Given the description of an element on the screen output the (x, y) to click on. 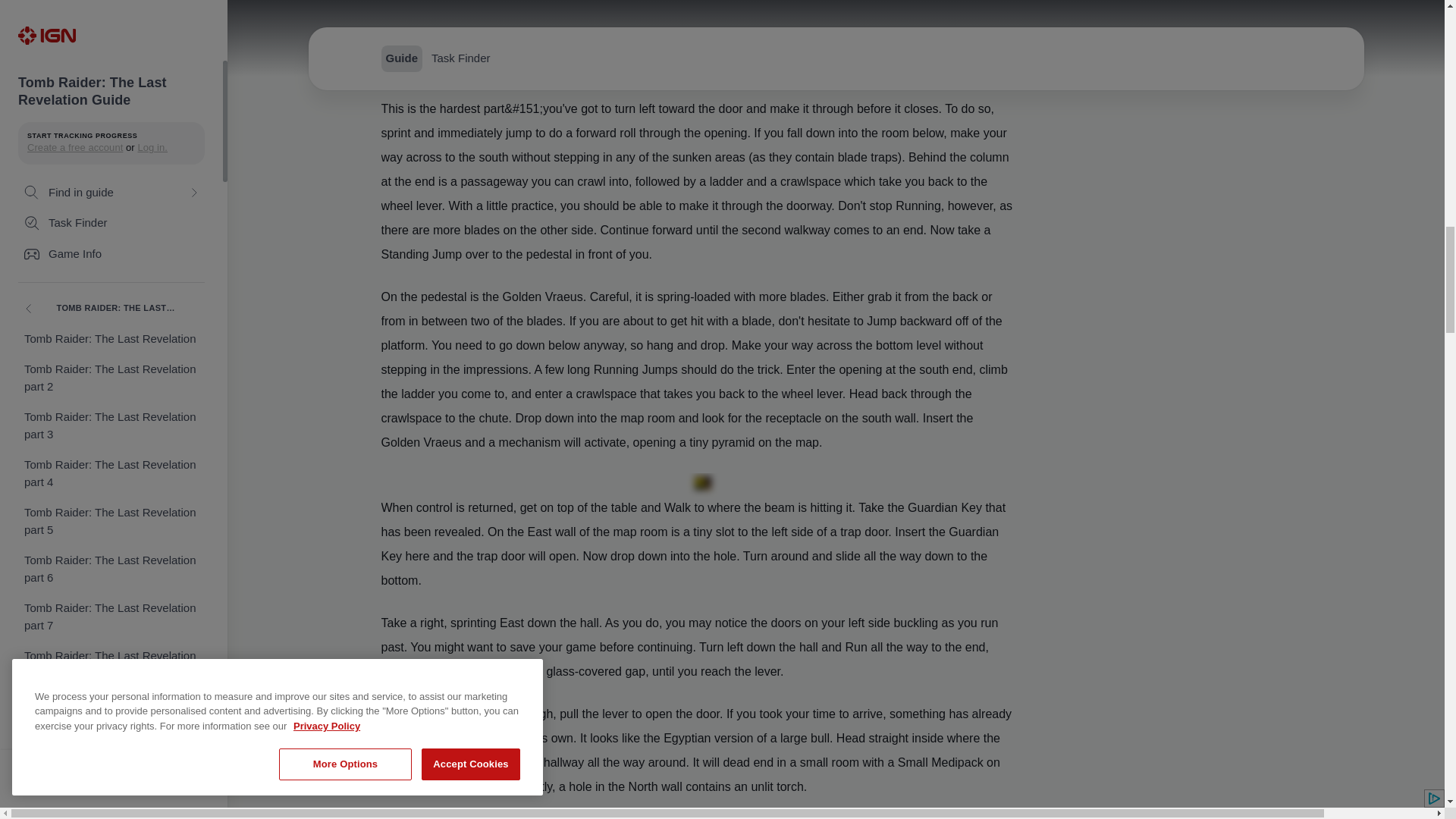
Tomb Raider: The Last Revelation part 31 (111, 125)
Tomb Raider: The Last Revelation part 28 (111, 2)
Tomb Raider: The Last Revelation part 29 (111, 29)
Tomb Raider: The Last Revelation part 30 (111, 77)
